Given the description of an element on the screen output the (x, y) to click on. 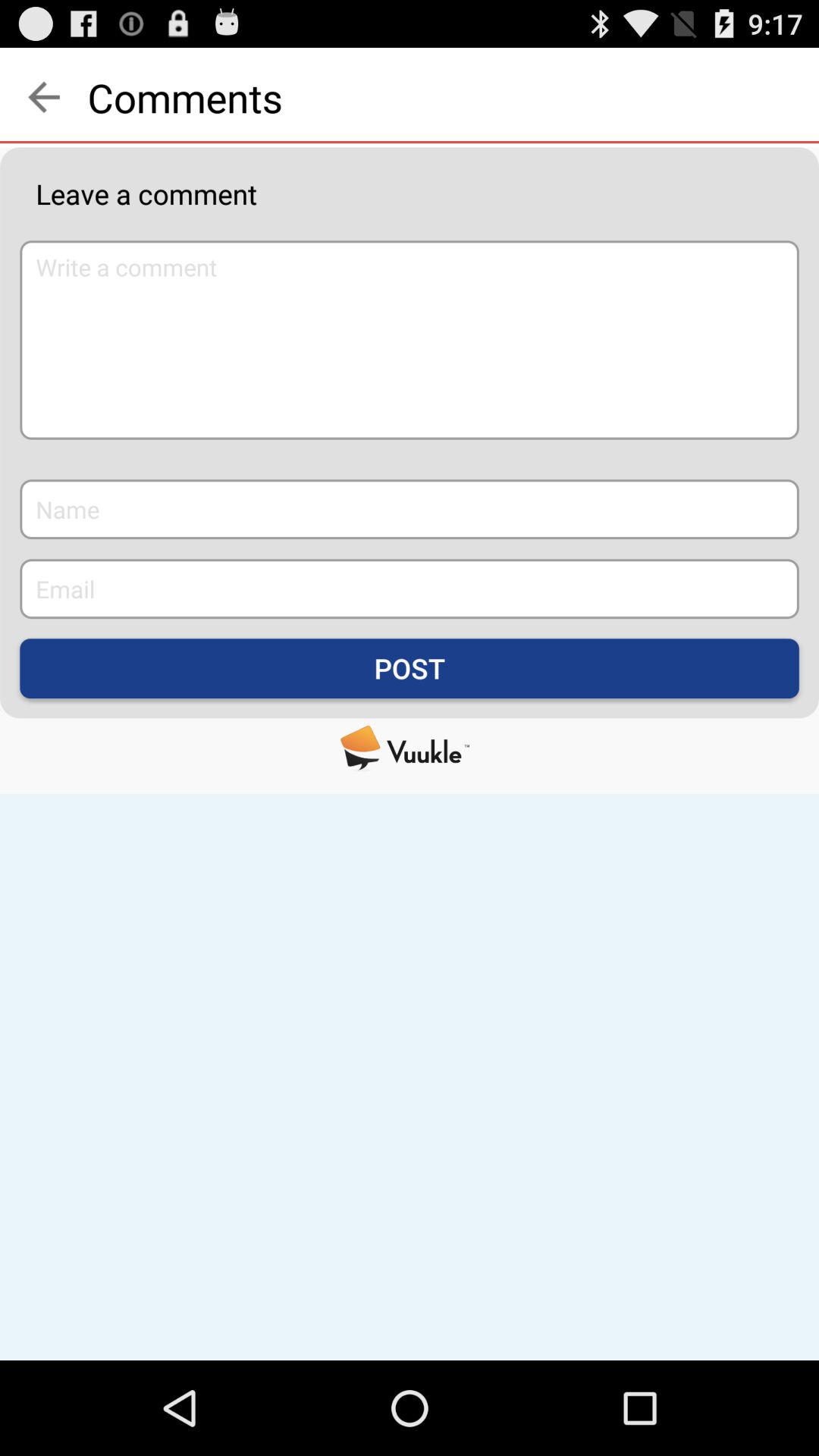
click the item below the post item (409, 748)
